Given the description of an element on the screen output the (x, y) to click on. 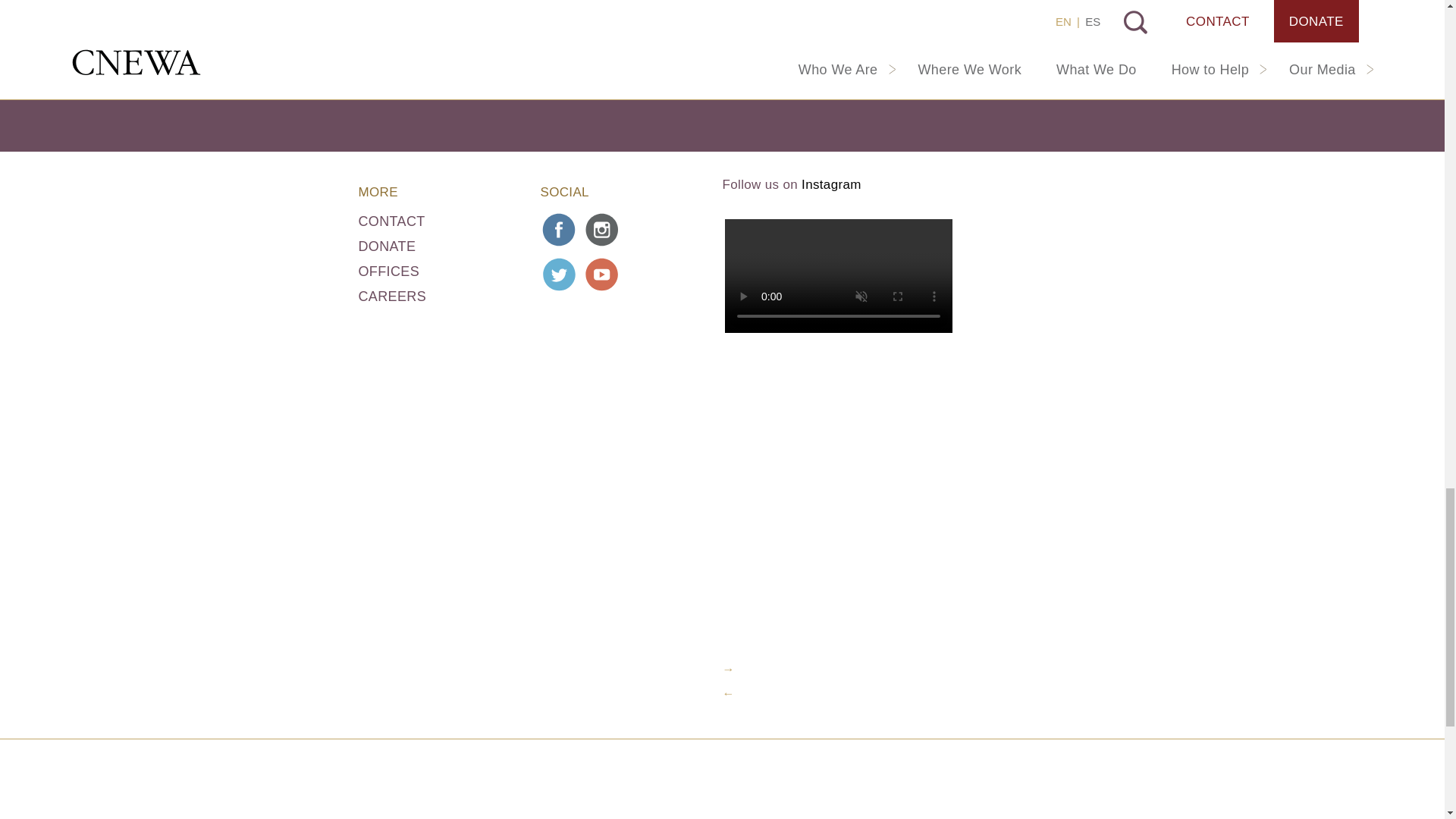
Visit CNEWA on Facebook (559, 229)
Visit CNEWA on Twitter (559, 274)
Visit CNEWA on YouTube (602, 274)
Submit (816, 79)
Visit CNEWA on Instgram (602, 229)
